Given the description of an element on the screen output the (x, y) to click on. 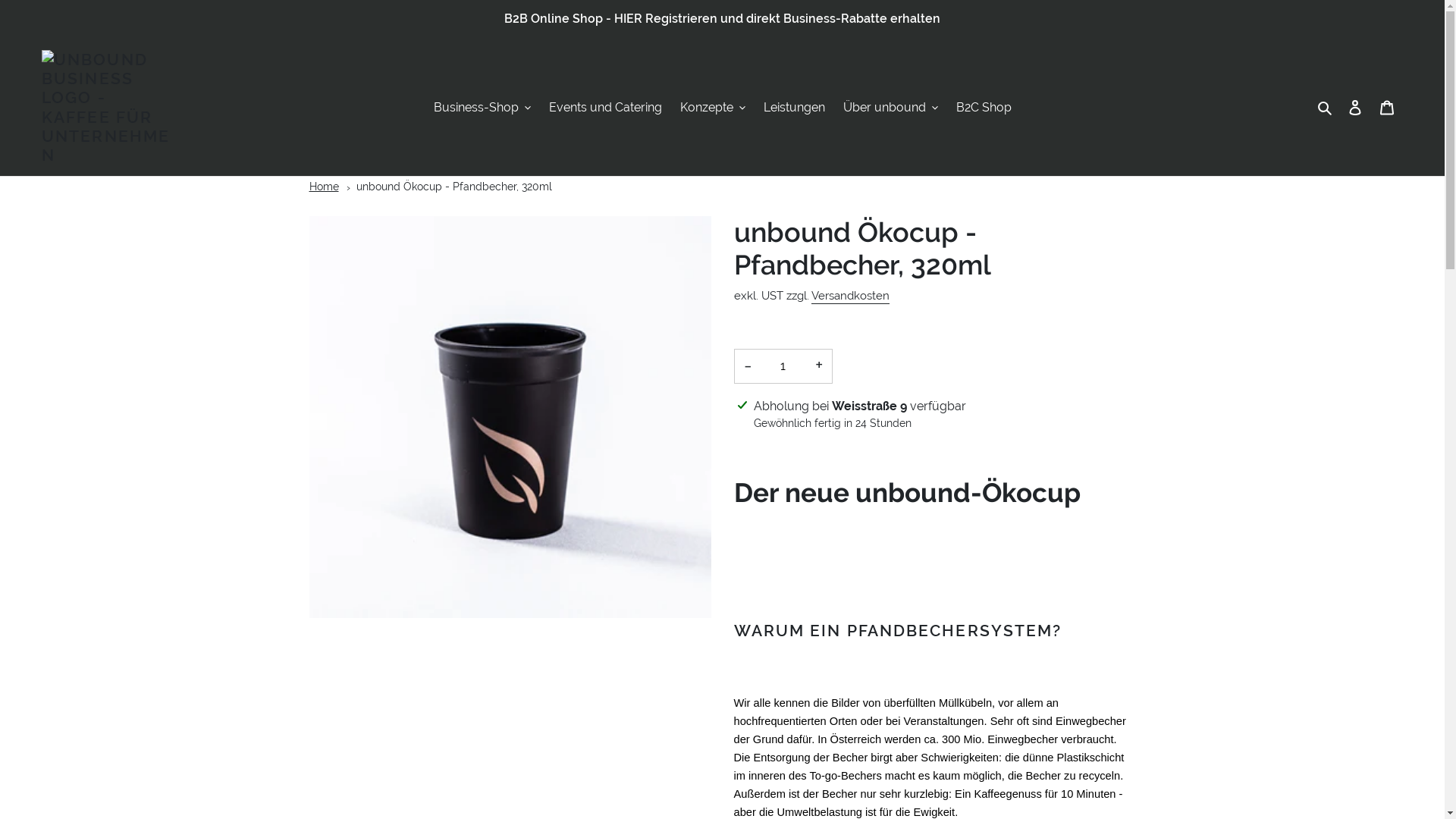
Events und Catering Element type: text (605, 107)
Versandkosten Element type: text (850, 296)
Leistungen Element type: text (793, 107)
Warenkorb Element type: text (1386, 107)
B2C Shop Element type: text (982, 107)
Business-Shop Element type: text (482, 107)
Shop-Informationen anzeigen Element type: text (826, 445)
Suchen Element type: text (1325, 107)
Einloggen Element type: text (1355, 107)
Konzepte Element type: text (711, 107)
Home Element type: text (323, 186)
